Given the description of an element on the screen output the (x, y) to click on. 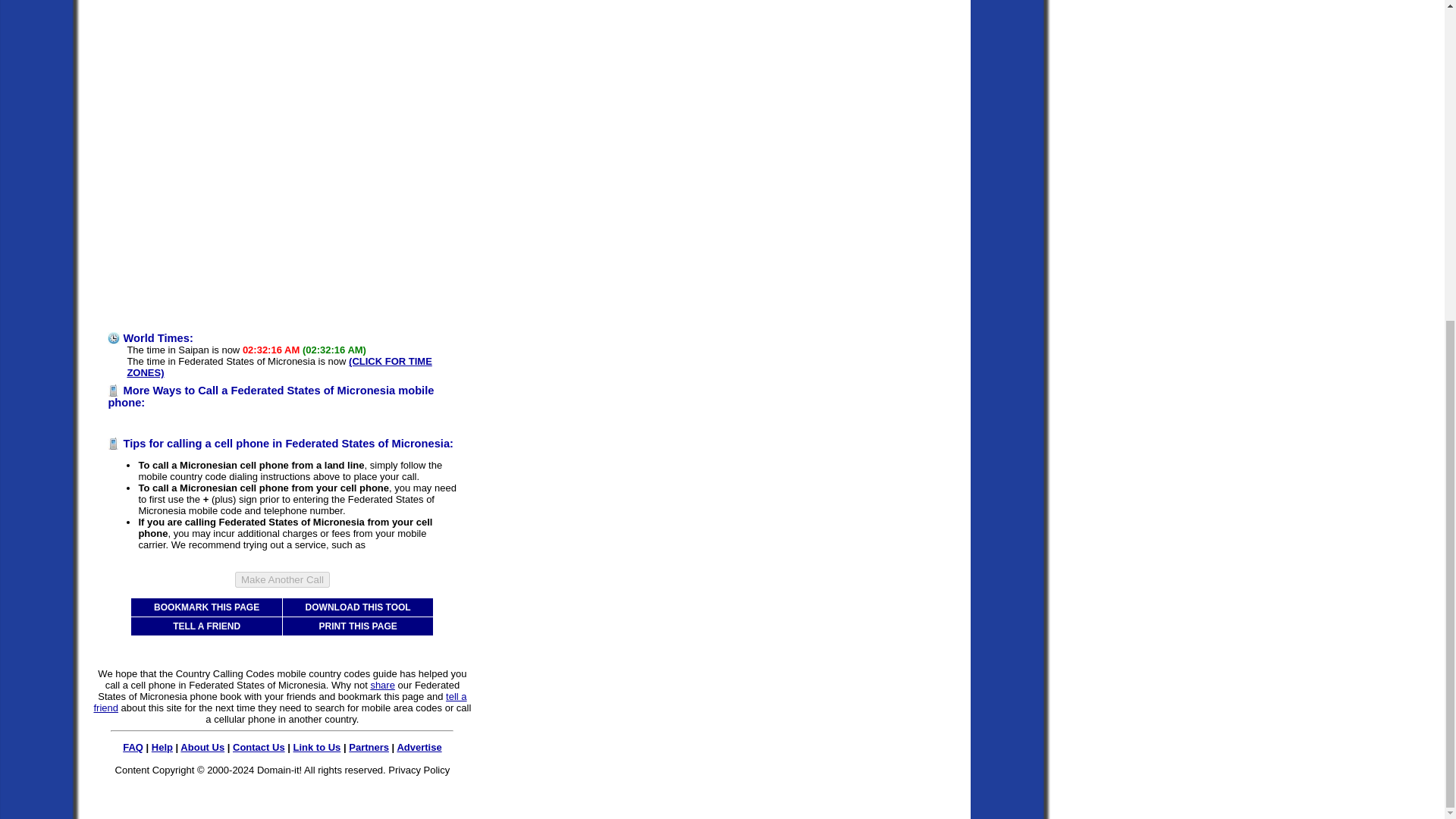
Advertisement (234, 215)
bookmark (359, 696)
DOWNLOAD THIS TOOL (357, 606)
FAQ (132, 747)
Partners (368, 747)
Contact Us (258, 747)
Make Another Call (282, 579)
Advertise (418, 747)
Domain-it! (279, 769)
Privacy Policy (418, 769)
